Given the description of an element on the screen output the (x, y) to click on. 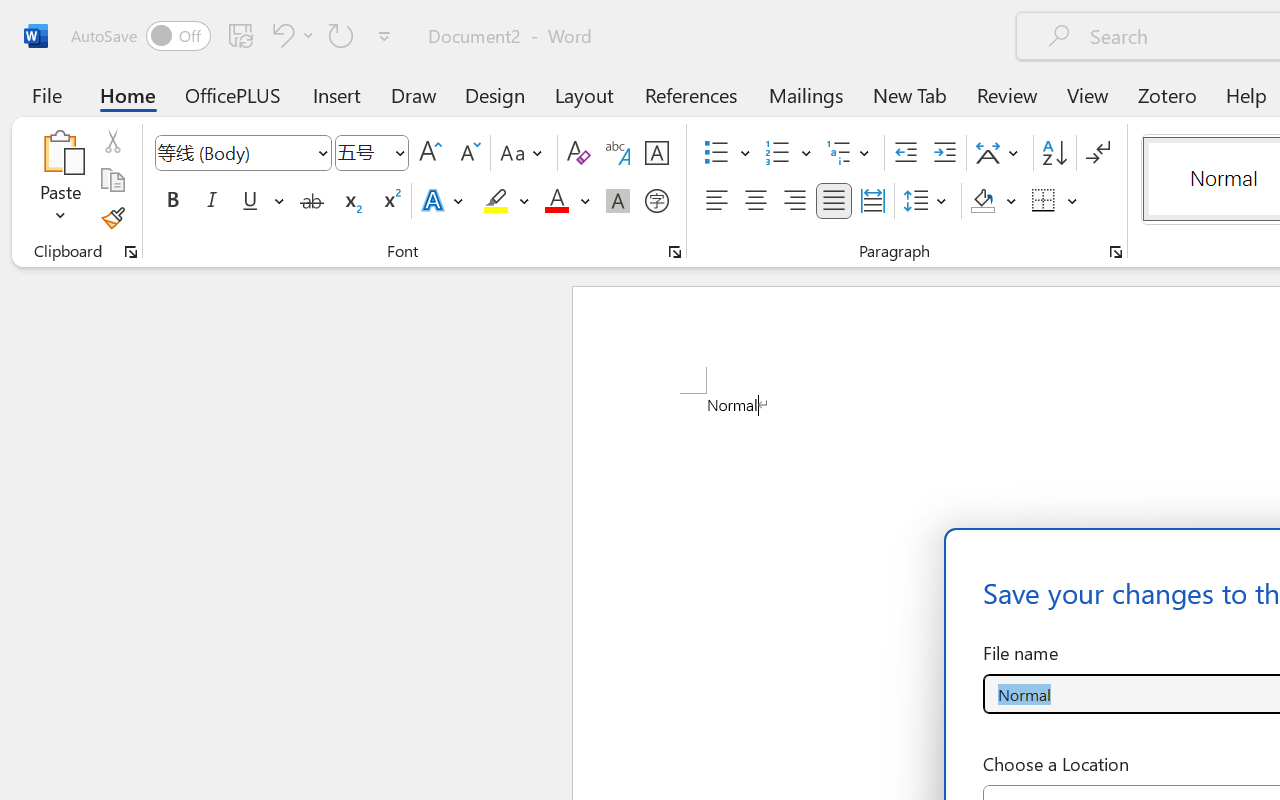
Paste (60, 151)
Superscript (390, 201)
Font Size (372, 153)
Justify (834, 201)
AutoSave (140, 35)
Insert (337, 94)
Character Shading (618, 201)
Cut (112, 141)
Center (756, 201)
Undo Apply Quick Style (290, 35)
Mailings (806, 94)
References (690, 94)
Design (495, 94)
Home (127, 94)
Repeat Style (341, 35)
